Given the description of an element on the screen output the (x, y) to click on. 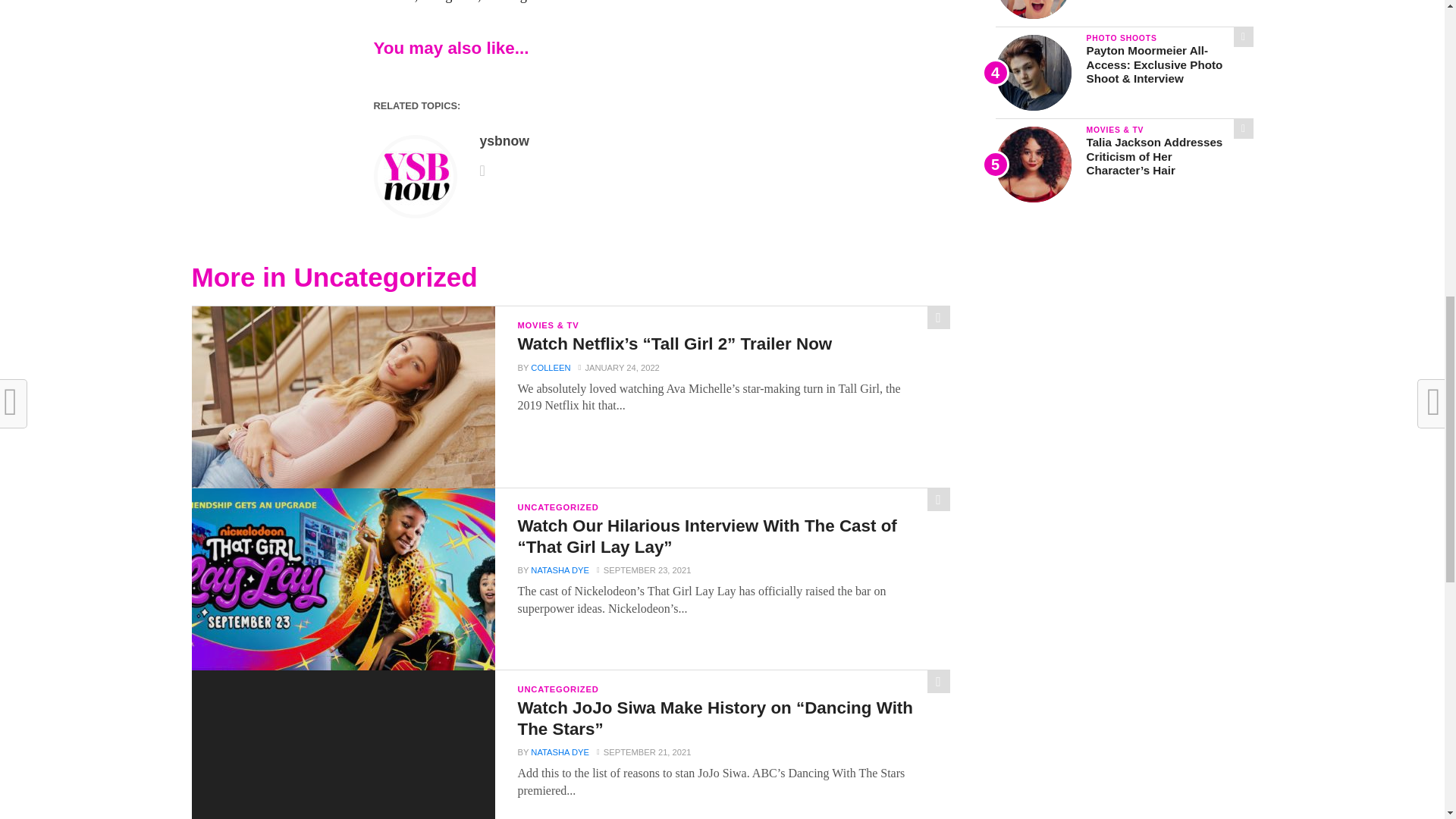
Posts by Natasha Dye (560, 751)
Posts by ysbnow (504, 140)
Posts by Natasha Dye (560, 569)
Posts by colleen (550, 367)
